Given the description of an element on the screen output the (x, y) to click on. 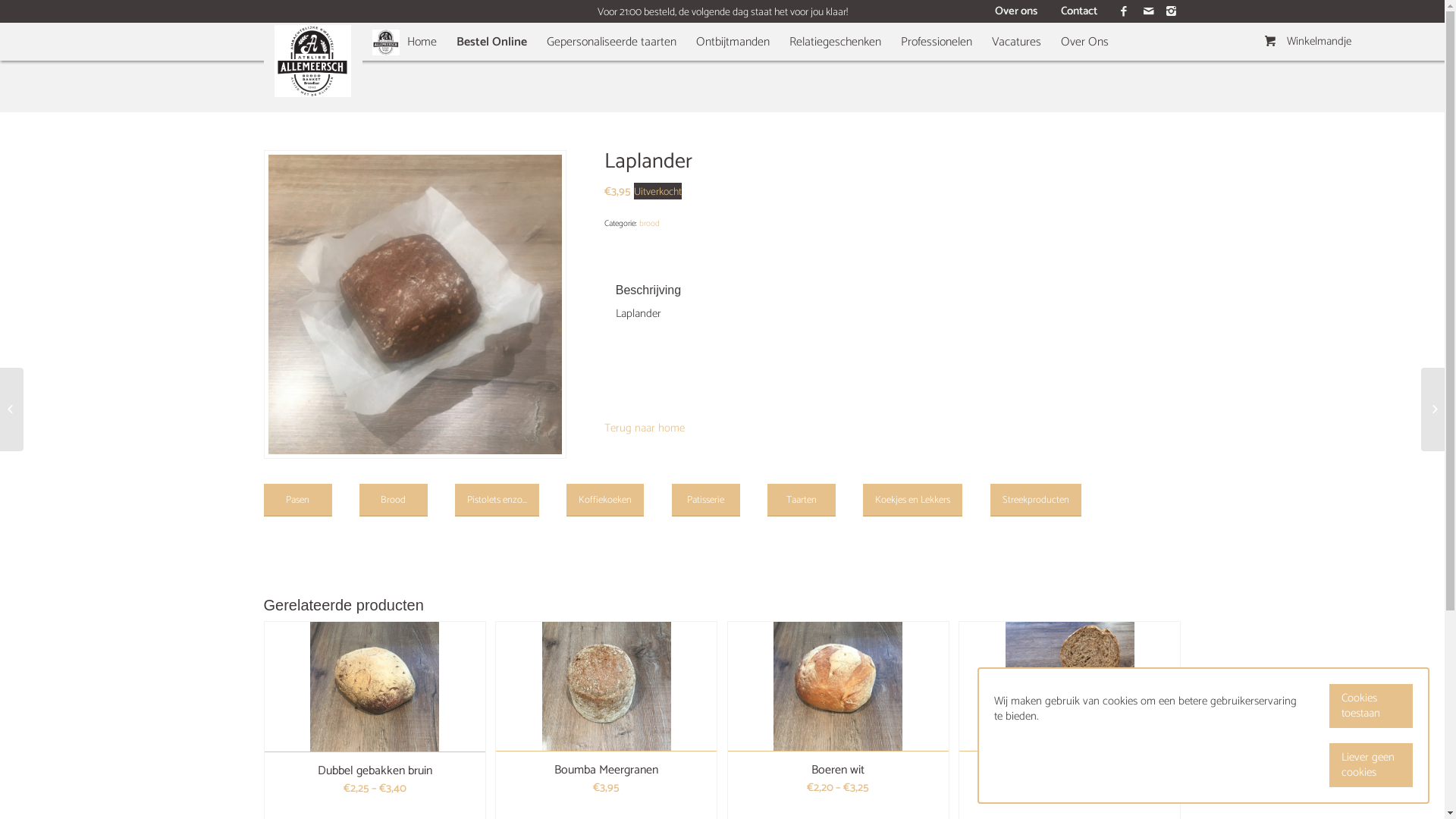
Over Ons Element type: text (1084, 67)
Pasen Element type: text (297, 499)
Vacatures Element type: text (1015, 67)
Koekjes en Lekkers Element type: text (912, 499)
Pistolets enzo... Element type: text (497, 499)
Relatiegeschenken Element type: text (835, 67)
Taarten Element type: text (801, 499)
Gepersonaliseerde taarten Element type: text (611, 67)
Mail Element type: hover (1146, 11)
Streekproducten Element type: text (1035, 499)
Instagram Element type: hover (1169, 11)
Facebook Element type: hover (1124, 11)
Professionelen Element type: text (935, 67)
Patisserie Element type: text (705, 499)
Home Element type: text (404, 67)
brood Element type: text (649, 223)
Bestel Online Element type: text (490, 67)
Terug naar home Element type: text (722, 428)
Brood Element type: text (393, 499)
Koffiekoeken Element type: text (604, 499)
Ontbijtmanden Element type: text (731, 67)
